Given the description of an element on the screen output the (x, y) to click on. 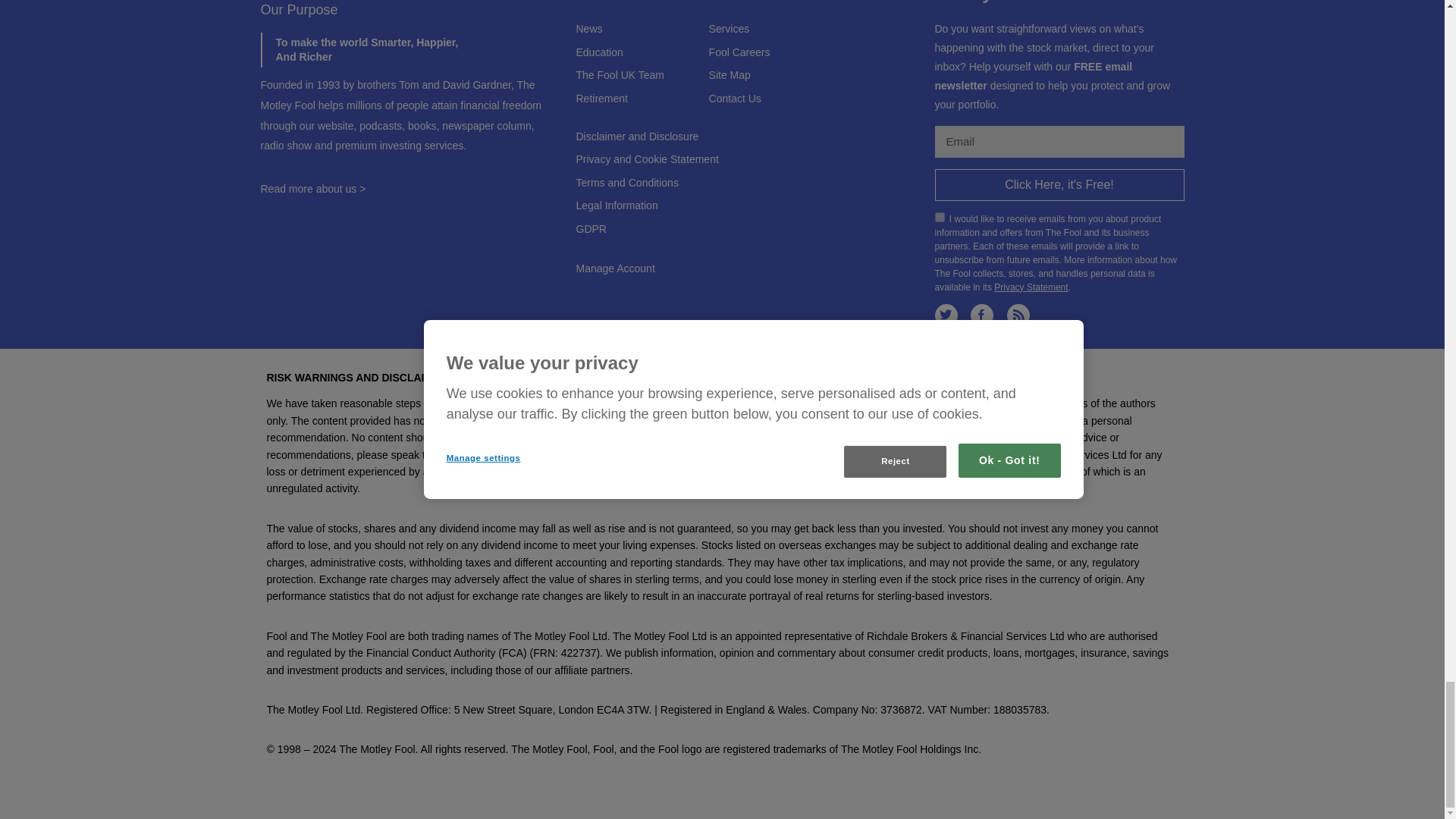
true (938, 216)
